Given the description of an element on the screen output the (x, y) to click on. 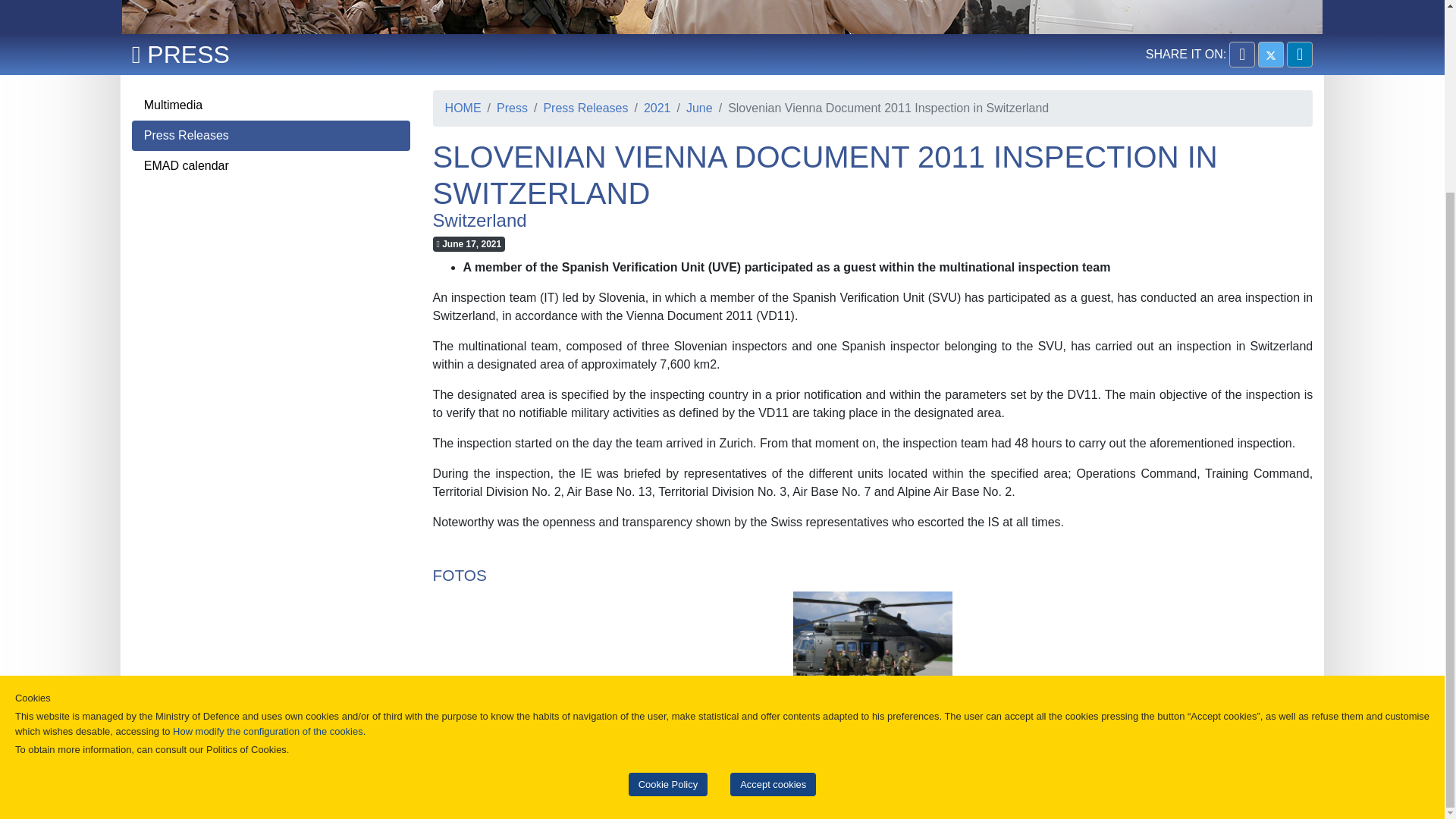
SHARE IT ON TWITTER (1270, 54)
Web map (509, 766)
June (692, 108)
Go to cookie policy (267, 489)
HOME (463, 108)
Press (504, 108)
RSS Channel (923, 766)
How modify the configuration of the cookies (267, 489)
Press Releases (271, 135)
Periodista del EMAD (722, 17)
